Given the description of an element on the screen output the (x, y) to click on. 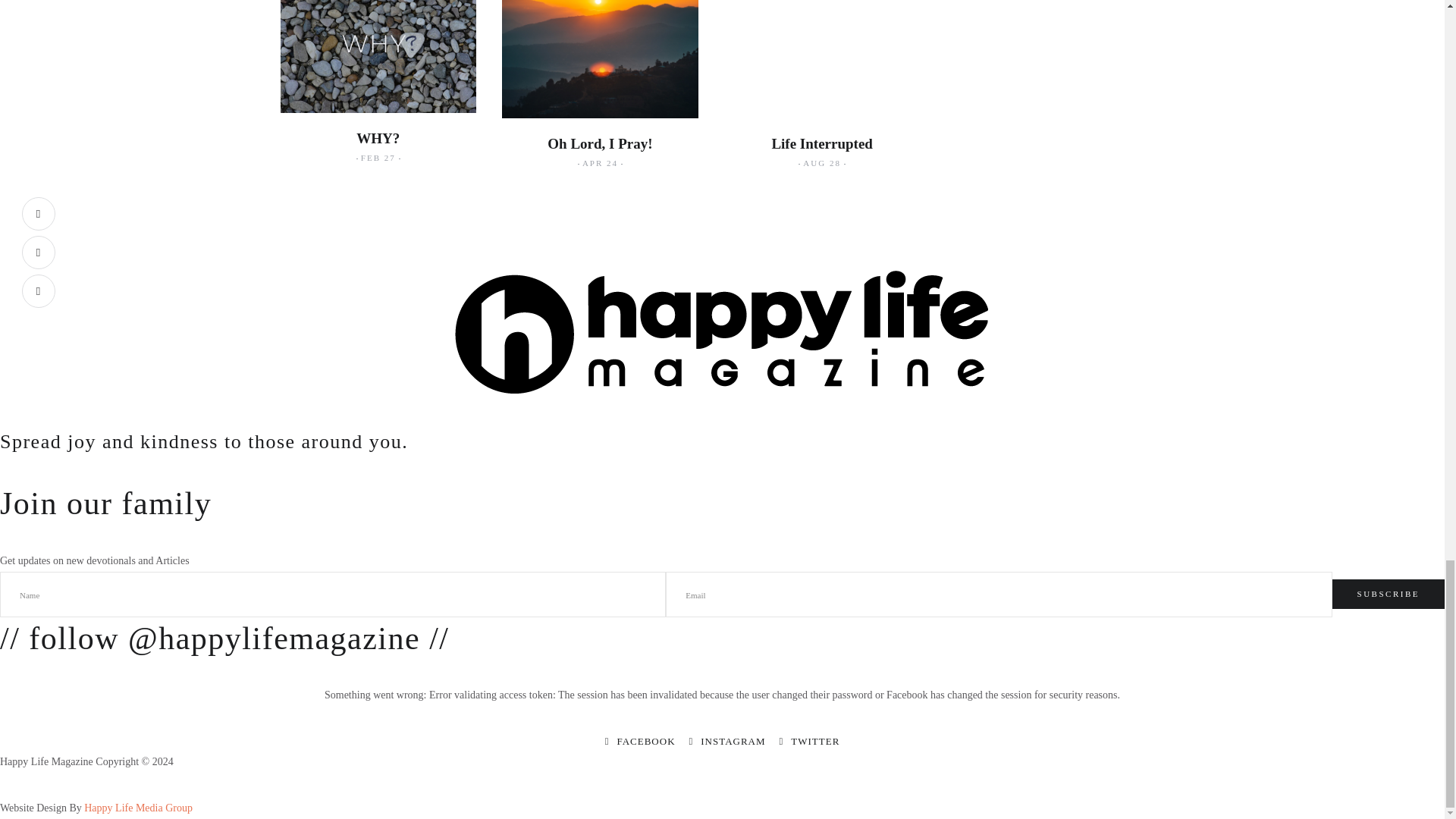
WHY? (377, 138)
Oh Lord, I Pray! (599, 143)
Life Interrupted (821, 143)
WHY? (377, 138)
Facebook (640, 740)
Oh Lord, I Pray! (599, 143)
Life Interrupted (821, 143)
